Given the description of an element on the screen output the (x, y) to click on. 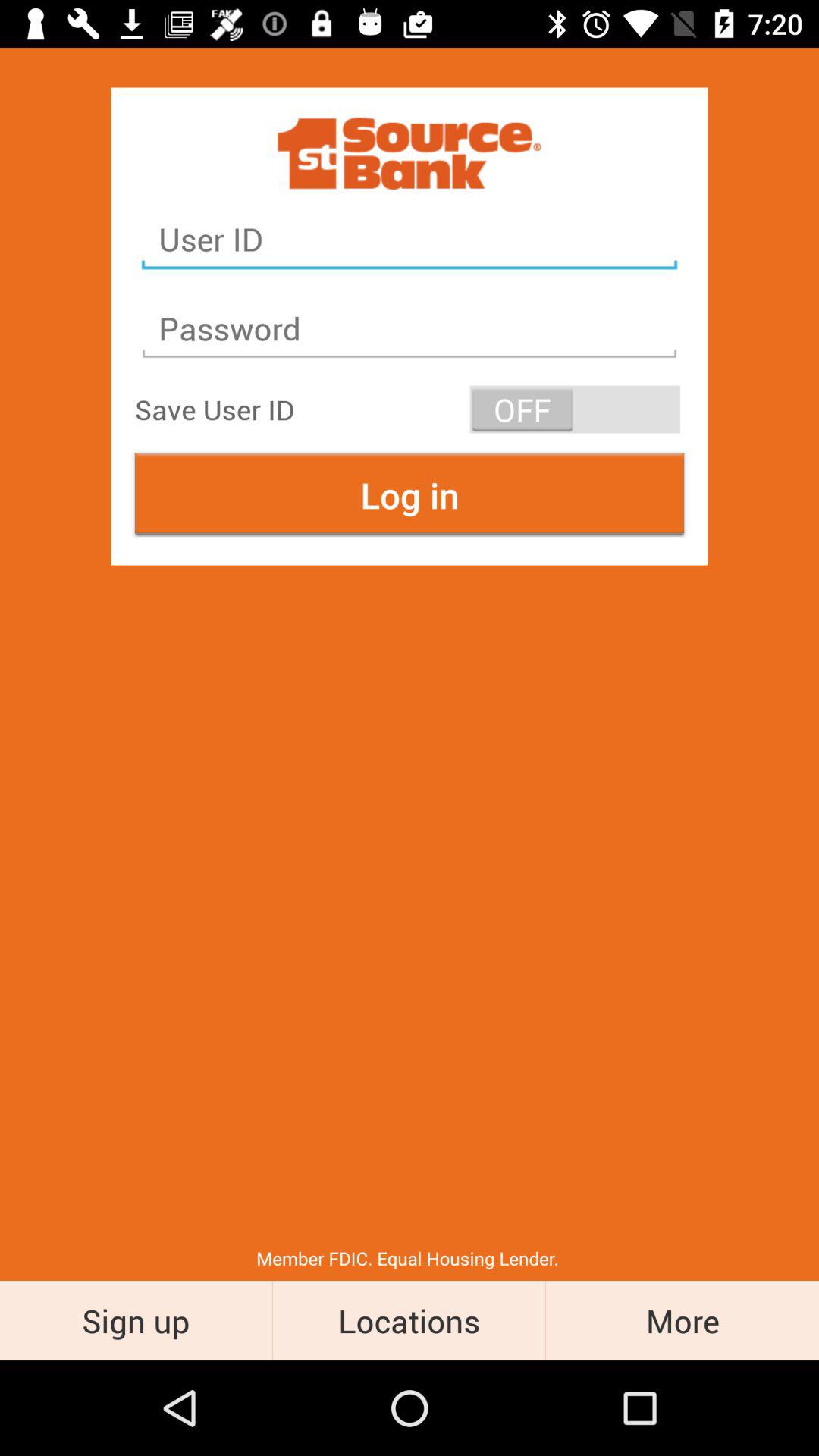
choose the item below the member fdic equal icon (136, 1320)
